Given the description of an element on the screen output the (x, y) to click on. 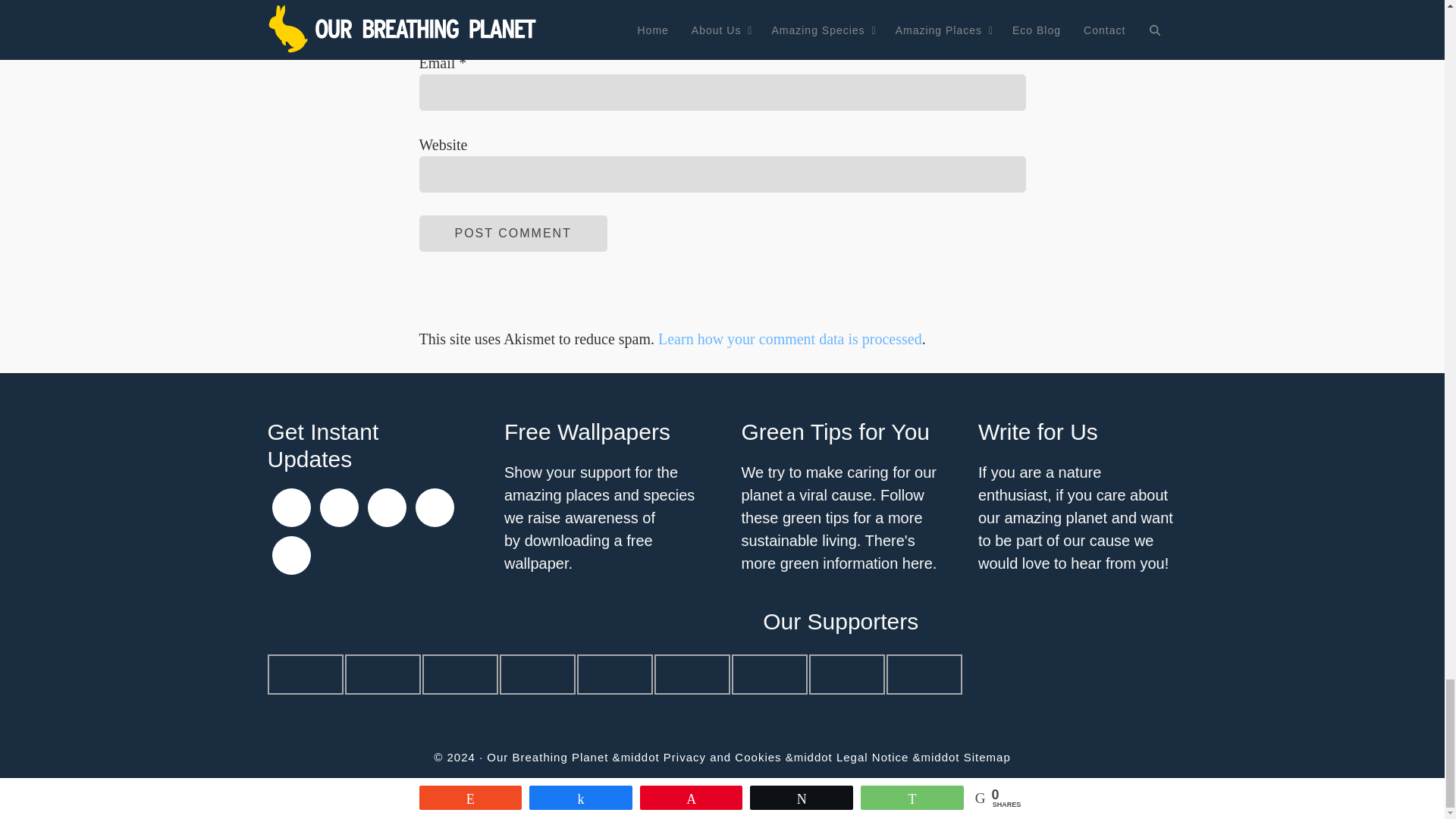
Post Comment (513, 233)
